Given the description of an element on the screen output the (x, y) to click on. 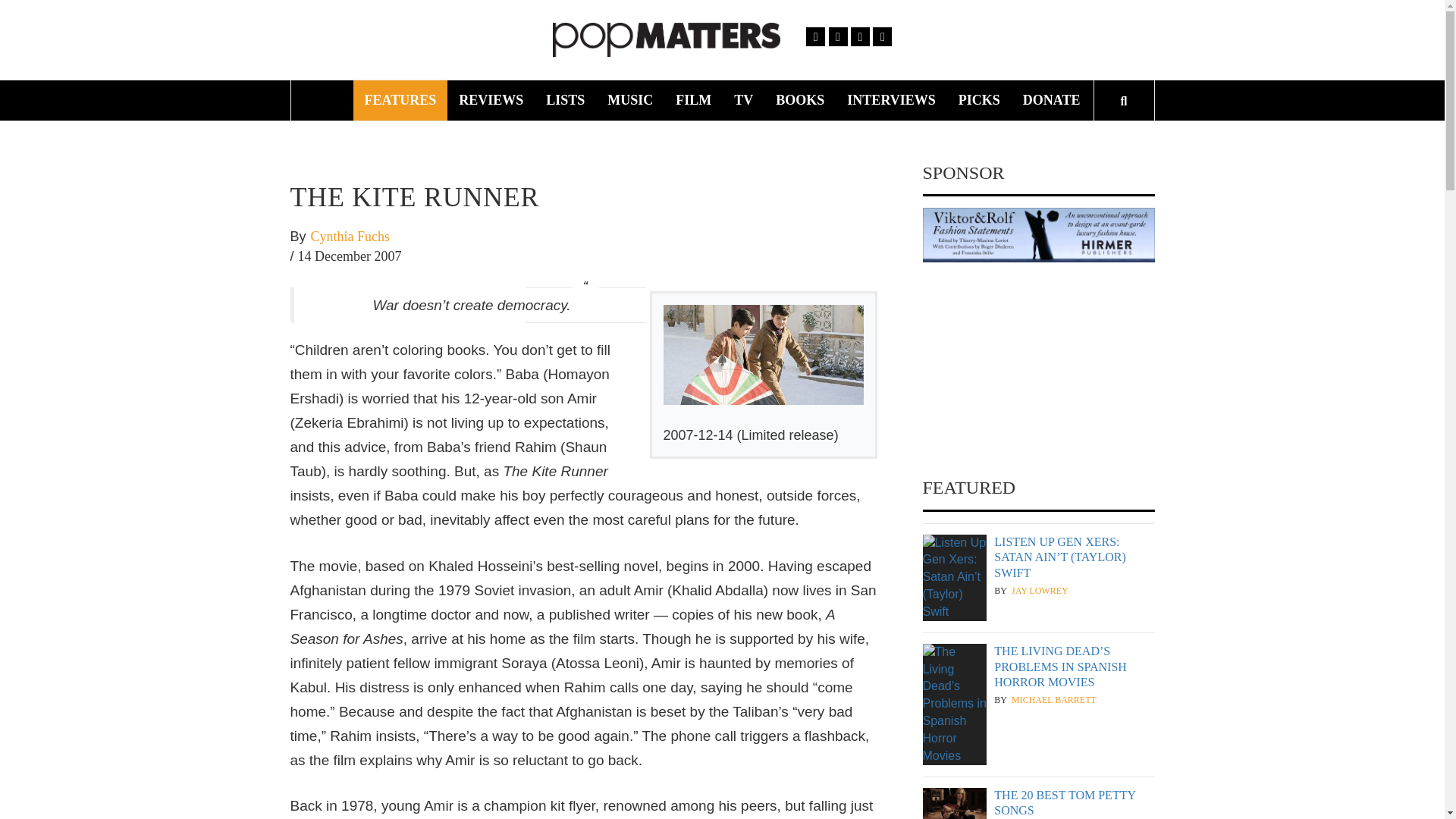
POPMATTERS (903, 45)
FILM (692, 100)
Twitter (837, 36)
Cynthia Fuchs (350, 237)
Michael Barrett (1053, 699)
DONATE (1051, 100)
Facebook (815, 36)
PICKS (979, 100)
TV (743, 100)
FEATURES (400, 100)
INTERVIEWS (890, 100)
Jay Lowrey (1039, 590)
Spotify (881, 36)
REVIEWS (490, 100)
Instagram (859, 36)
